Given the description of an element on the screen output the (x, y) to click on. 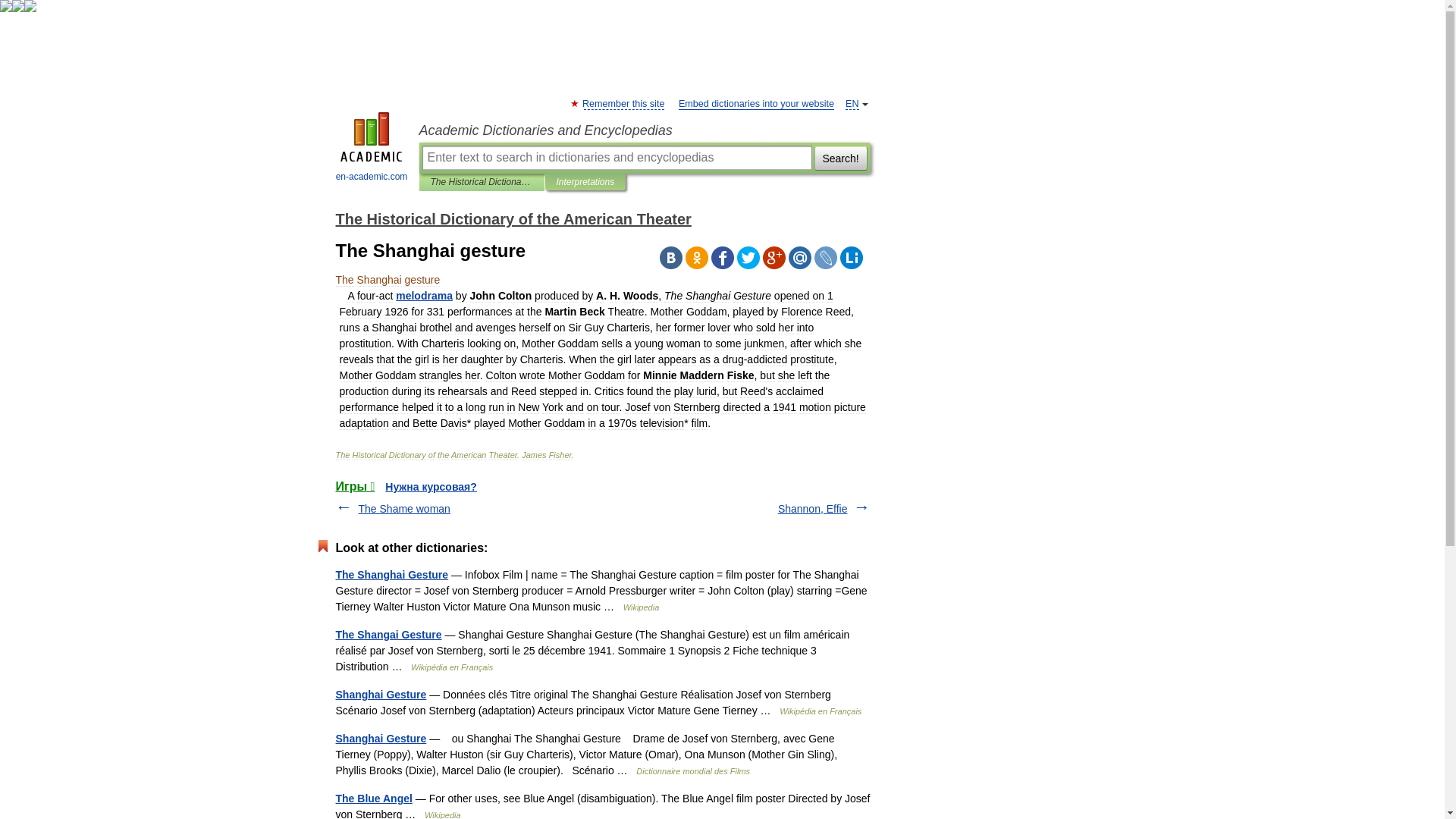
EN (852, 103)
Shanghai Gesture (380, 694)
Academic Dictionaries and Encyclopedias (644, 130)
The Historical Dictionary of the American Theater (481, 181)
The Shangai Gesture (387, 634)
Remember this site (623, 103)
Shannon, Effie (812, 508)
Enter text to search in dictionaries and encyclopedias (616, 157)
Search! (840, 157)
The Historical Dictionary of the American Theater (512, 218)
melodrama (424, 295)
en-academic.com (371, 148)
Shanghai Gesture (380, 738)
The Blue Angel (373, 798)
The Shame woman (403, 508)
